Given the description of an element on the screen output the (x, y) to click on. 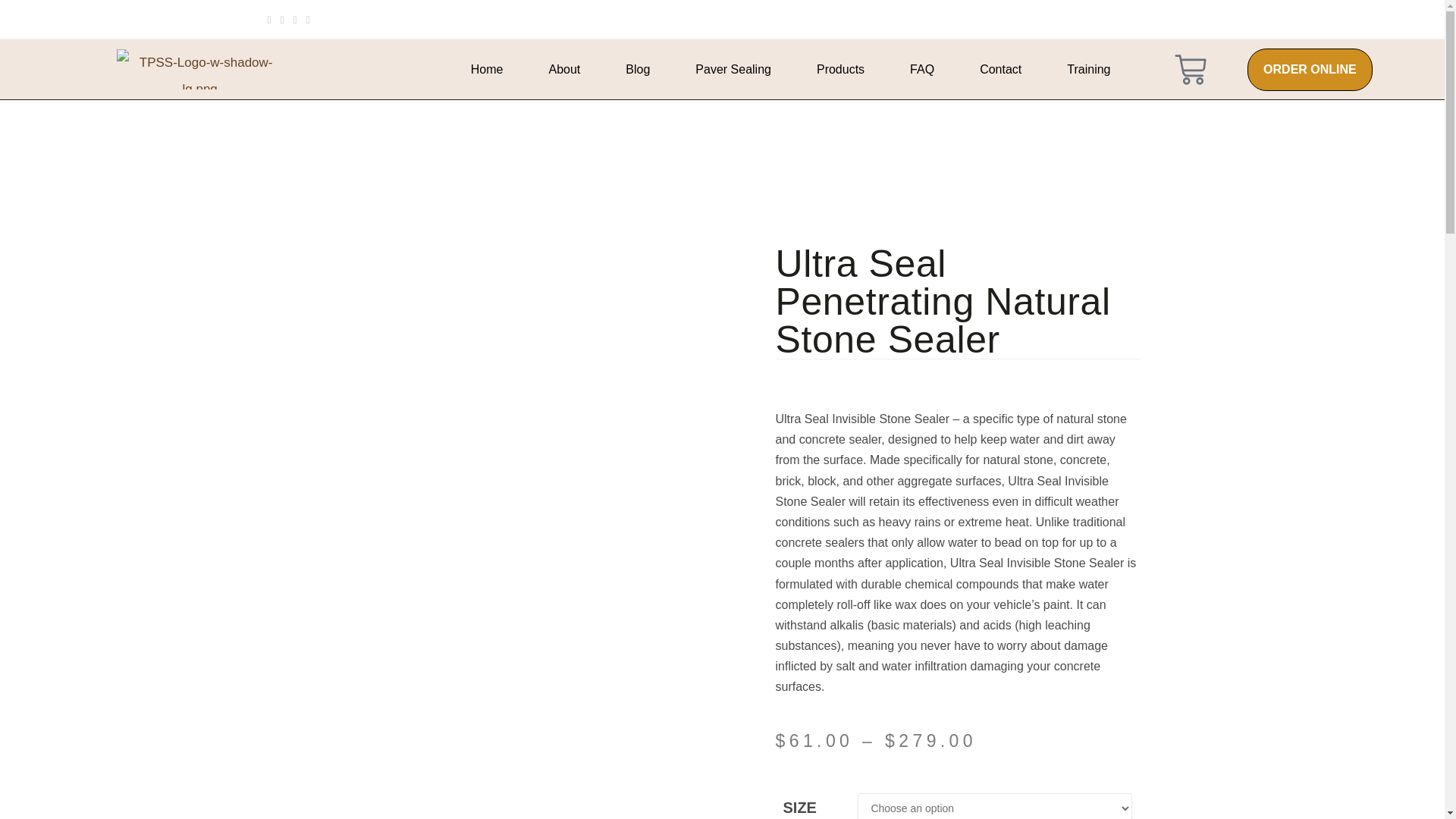
Contact (1000, 69)
Blog (637, 69)
Training (1088, 69)
FAQ (922, 69)
Products (840, 69)
About (564, 69)
Paver Sealing (732, 69)
Home (487, 69)
